Given the description of an element on the screen output the (x, y) to click on. 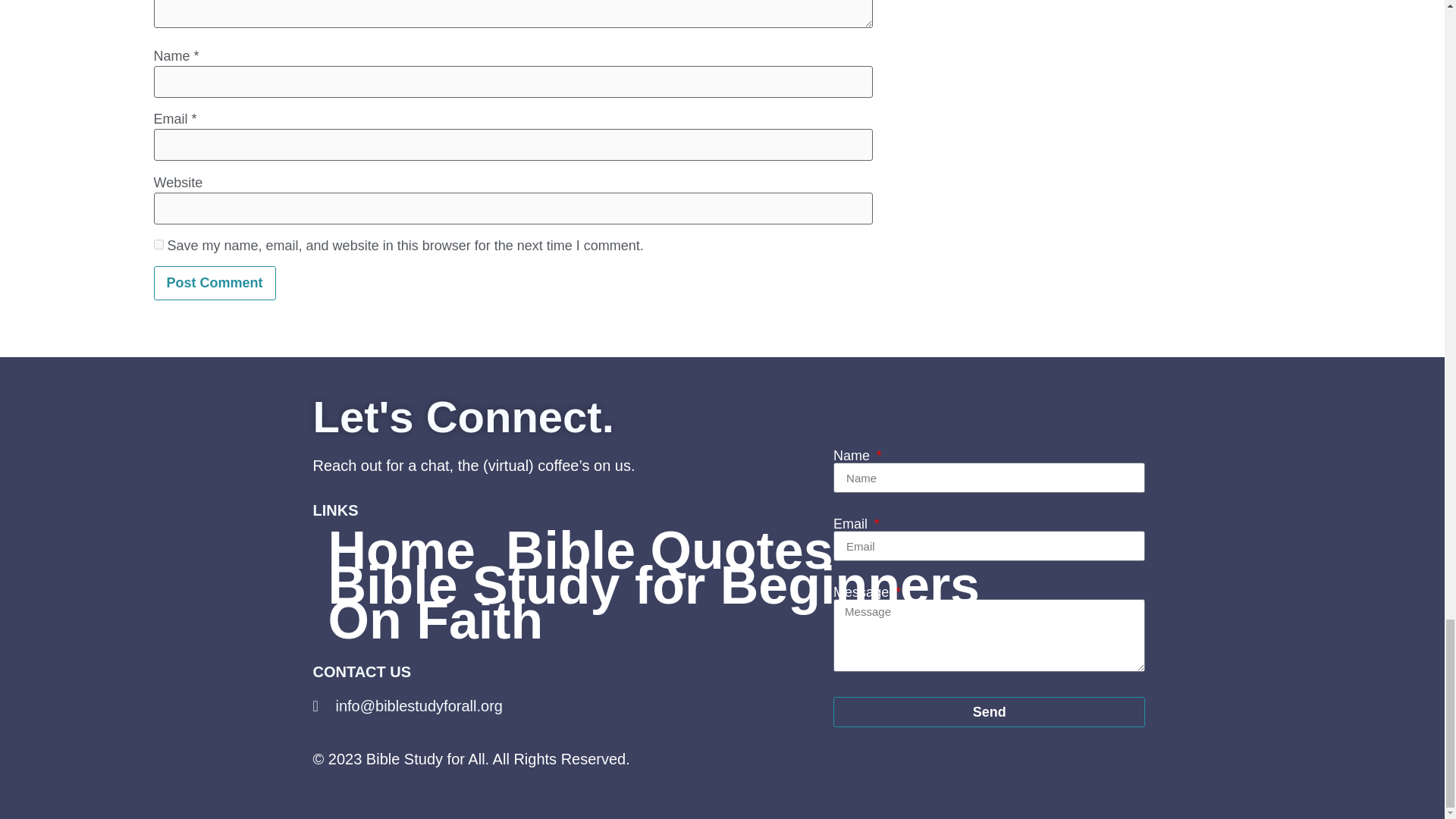
On Faith (435, 620)
Bible Quotes (669, 550)
Post Comment (213, 283)
Home (401, 550)
Send (988, 711)
Bible Study for Beginners (653, 585)
yes (157, 244)
Post Comment (213, 283)
